Given the description of an element on the screen output the (x, y) to click on. 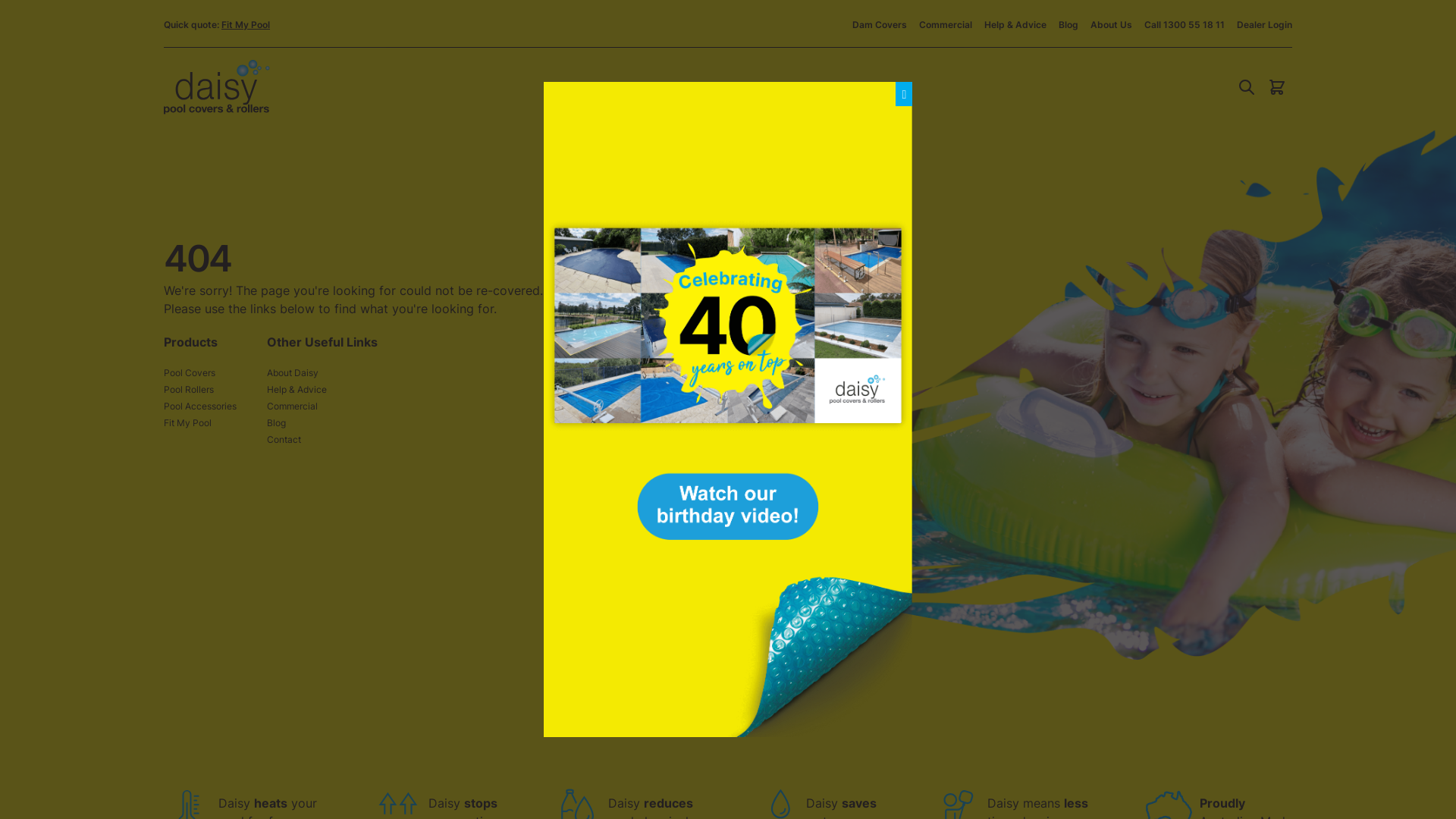
Pool Covers Element type: text (638, 87)
About Us Element type: text (1111, 24)
Pool Rollers Element type: text (744, 87)
Help & Advice Element type: text (1015, 24)
Help & Advice Element type: text (296, 389)
Fit My Pool Element type: text (187, 422)
Pool Accessories Element type: text (199, 405)
Commercial Element type: text (291, 405)
Blog Element type: text (275, 422)
About Daisy Element type: text (292, 372)
Dealer Login Element type: text (1264, 24)
Contact Element type: text (283, 439)
Commercial Element type: text (945, 24)
Call 1300 55 18 11 Element type: text (1184, 24)
Pool Rollers Element type: text (188, 389)
Blog Element type: text (1068, 24)
Pool Accessories Element type: text (856, 86)
Pool Covers Element type: text (189, 372)
Fit My Pool Element type: text (245, 24)
Dam Covers Element type: text (879, 24)
